Given the description of an element on the screen output the (x, y) to click on. 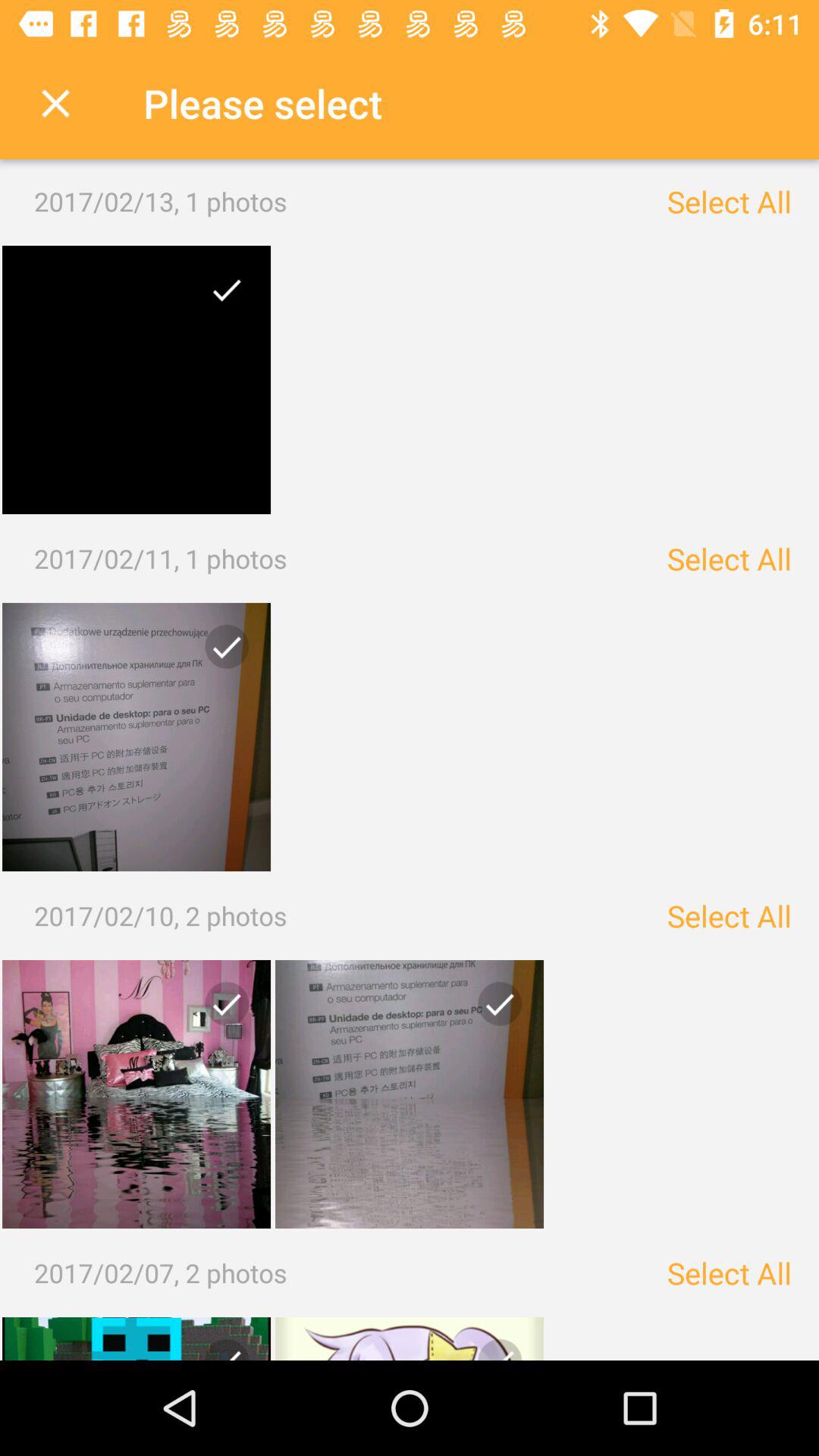
unselect (220, 1009)
